Given the description of an element on the screen output the (x, y) to click on. 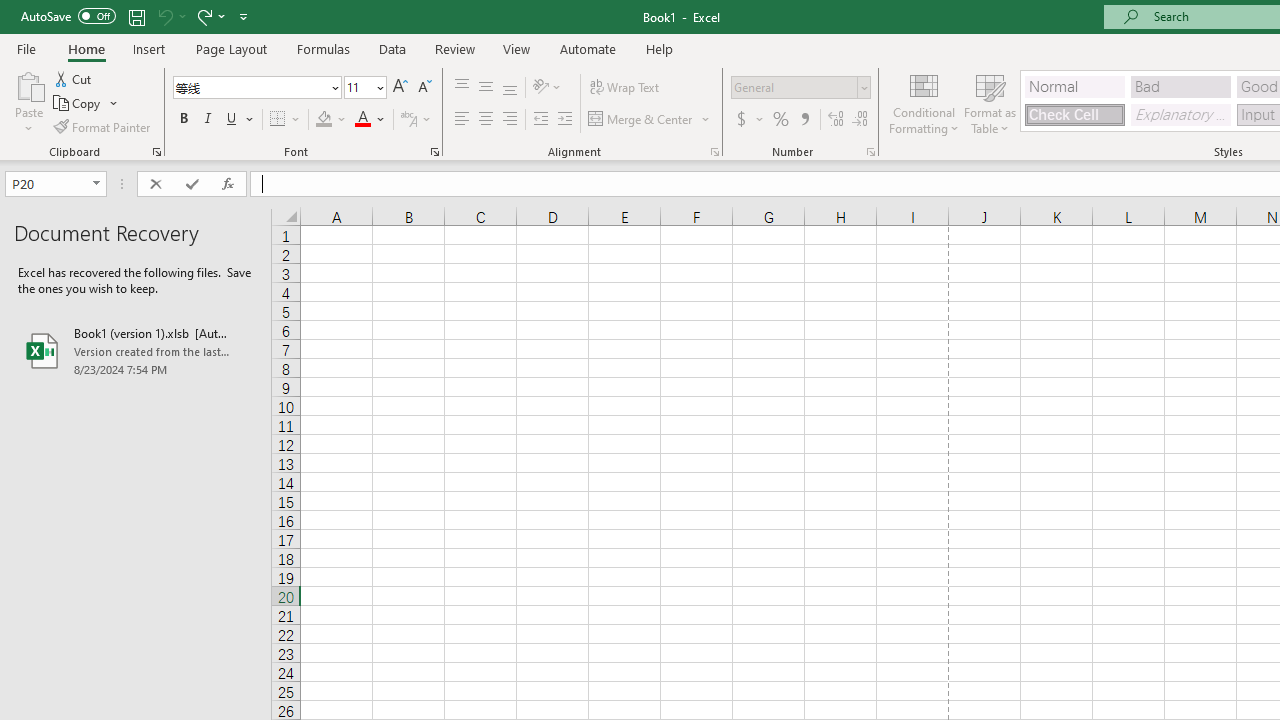
Merge & Center (649, 119)
Align Right (509, 119)
Wrap Text (624, 87)
Font Color RGB(255, 0, 0) (362, 119)
Underline (239, 119)
Bottom Align (509, 87)
Align Left (461, 119)
Bold (183, 119)
Explanatory Text (1180, 114)
Paste (28, 84)
Comma Style (804, 119)
